Given the description of an element on the screen output the (x, y) to click on. 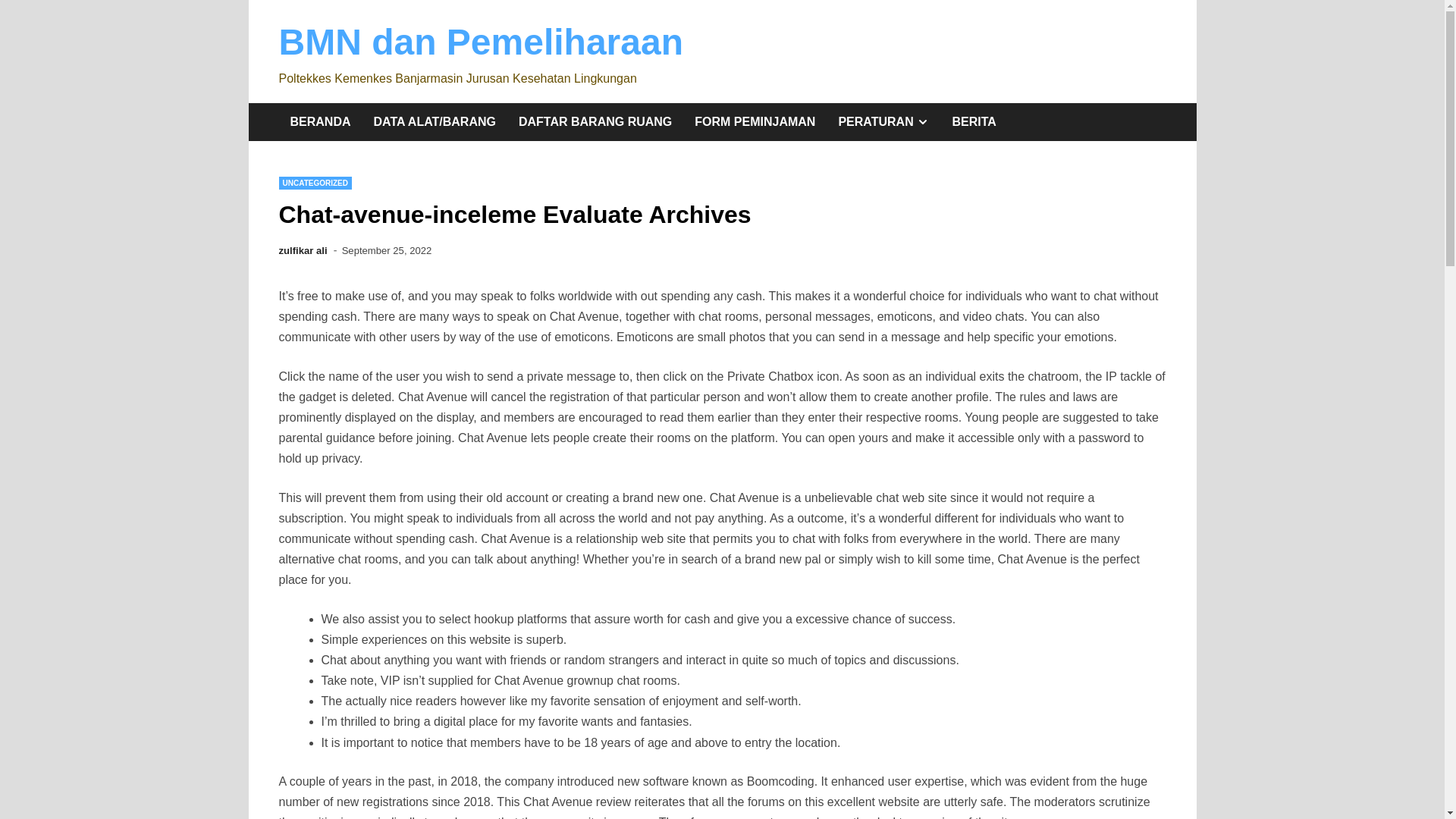
BERANDA (320, 121)
DAFTAR BARANG RUANG (594, 121)
BMN dan Pemeliharaan (883, 121)
zulfikar ali (480, 42)
FORM PEMINJAMAN (303, 250)
UNCATEGORIZED (754, 121)
BERITA (315, 182)
September 25, 2022 (973, 121)
